Given the description of an element on the screen output the (x, y) to click on. 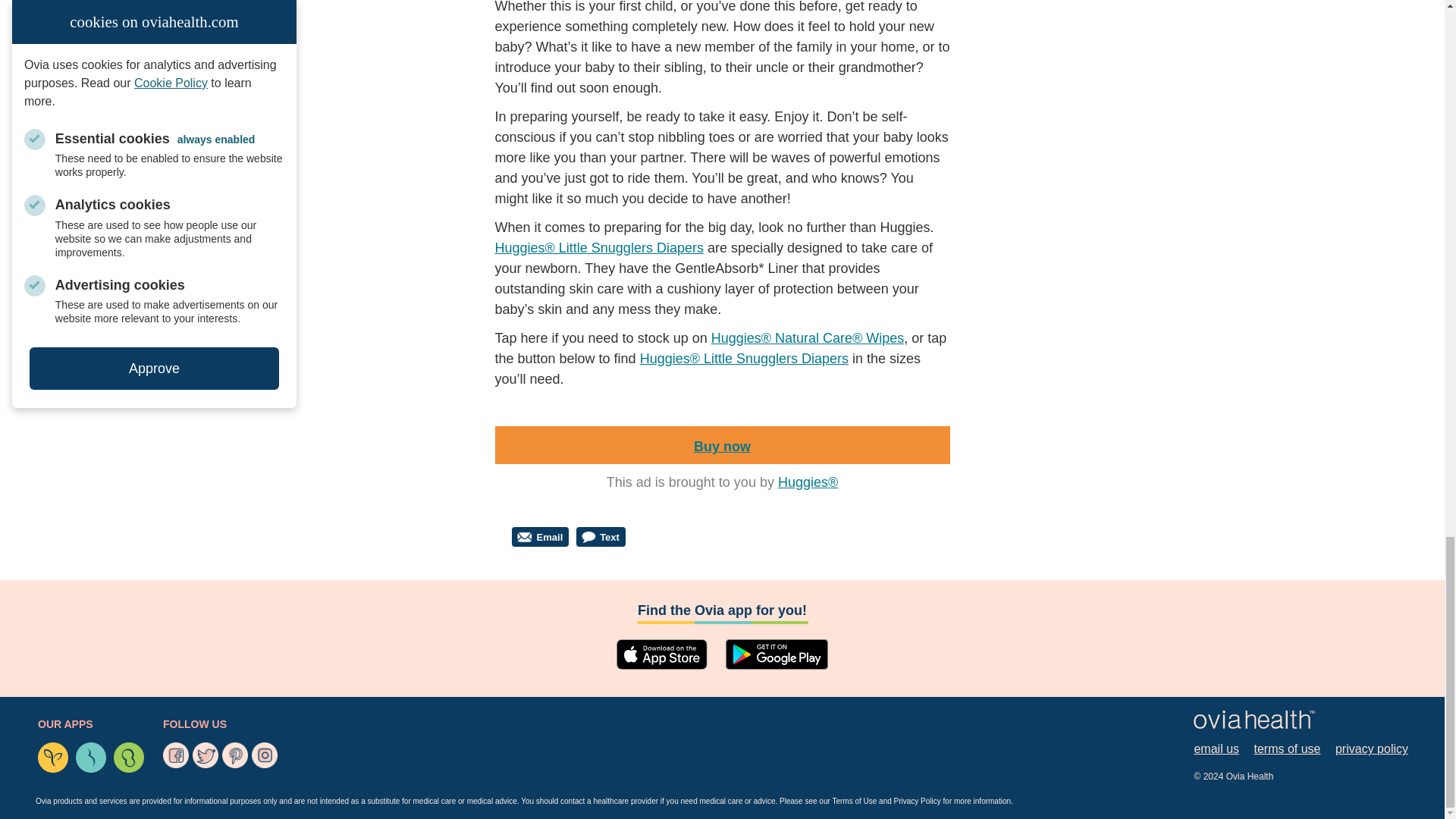
privacy policy (1371, 749)
Email (540, 537)
terms of use (1286, 749)
email us (1216, 749)
Buy now (722, 446)
Text (601, 537)
